Given the description of an element on the screen output the (x, y) to click on. 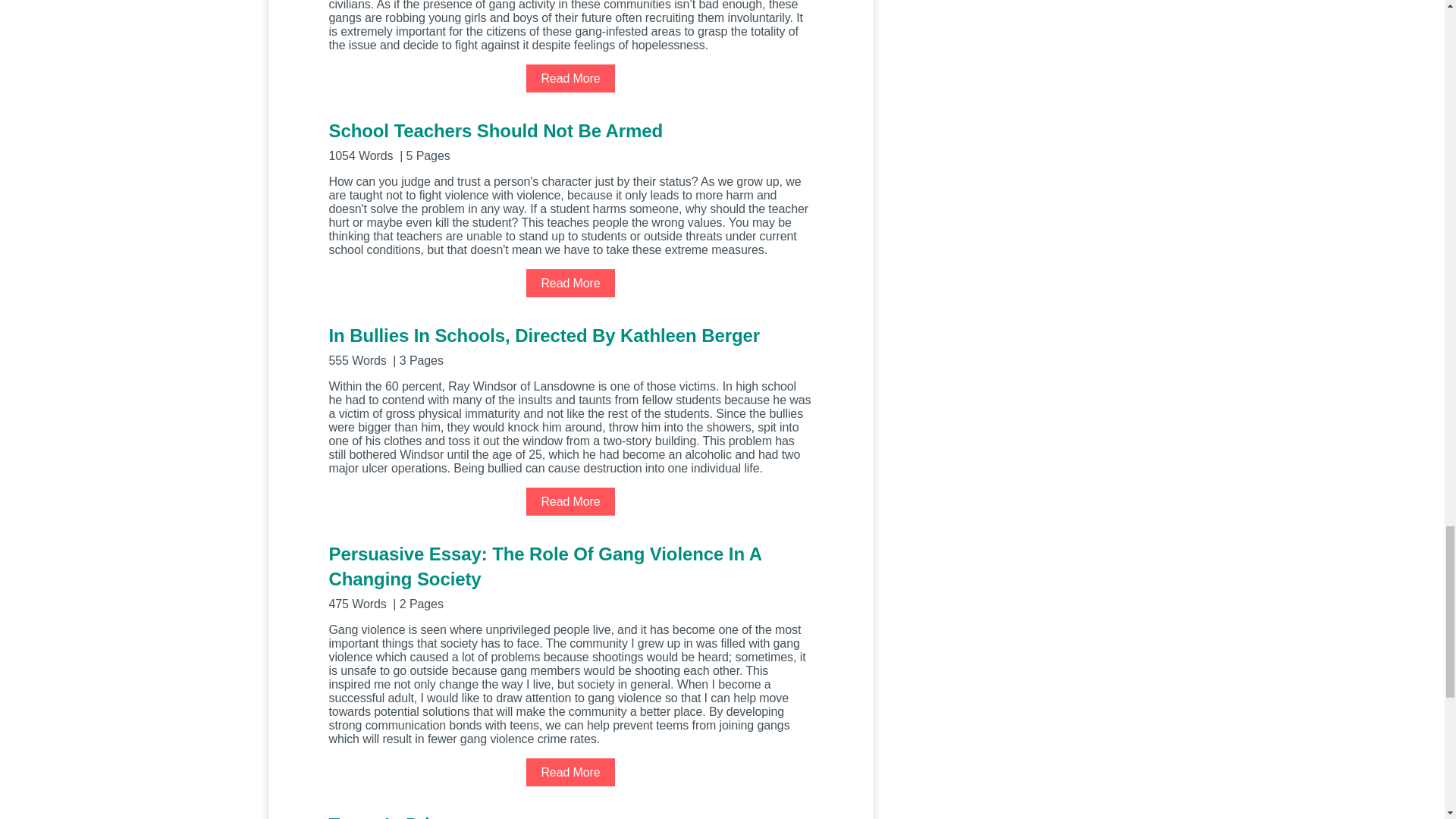
Read More (569, 501)
In Bullies In Schools, Directed By Kathleen Berger (570, 344)
Read More (569, 772)
Teens In Prison (570, 816)
Read More (569, 78)
Read More (569, 283)
School Teachers Should Not Be Armed (570, 140)
